Given the description of an element on the screen output the (x, y) to click on. 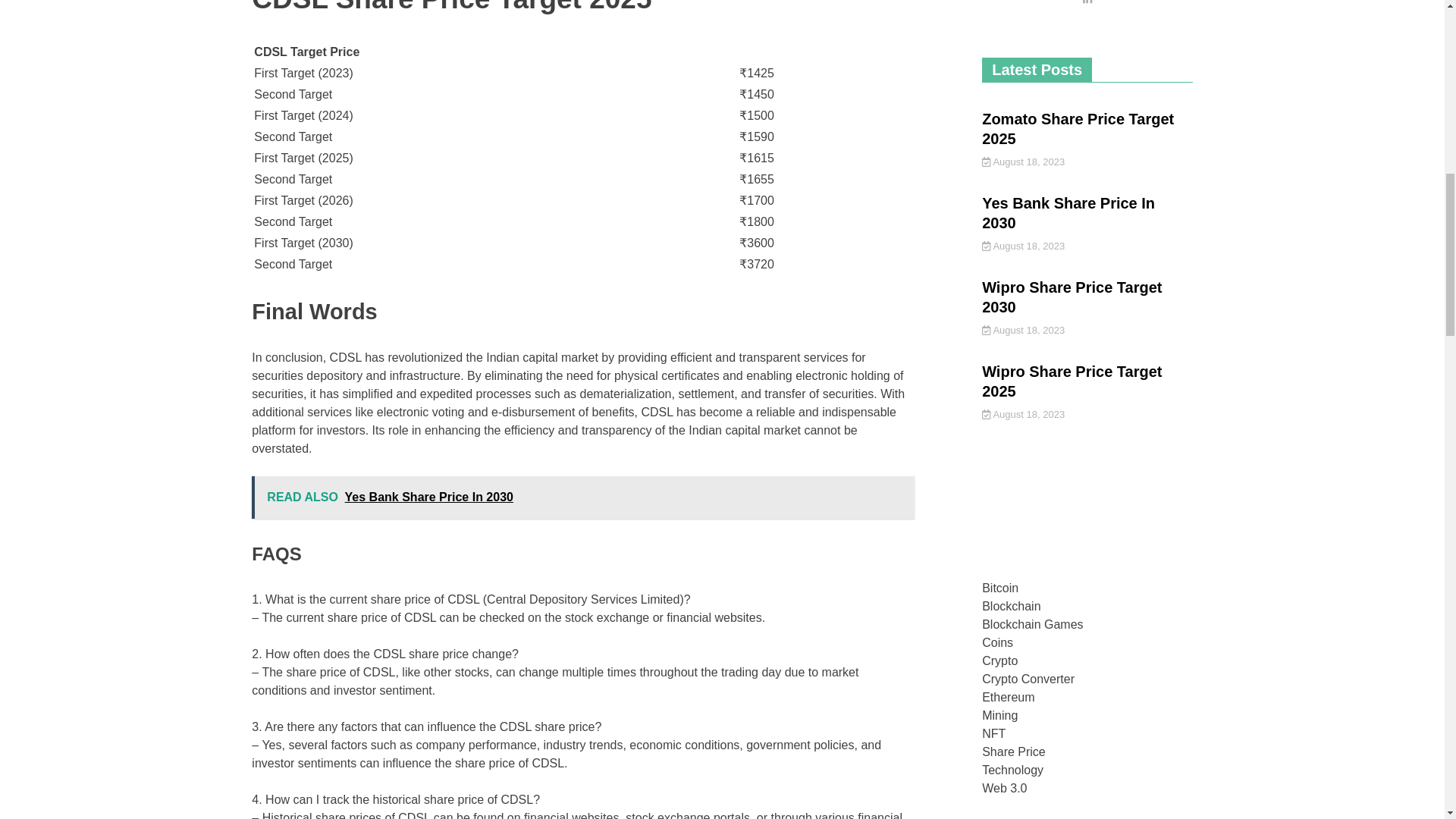
READ ALSO  Yes Bank Share Price In 2030 (582, 496)
